Given the description of an element on the screen output the (x, y) to click on. 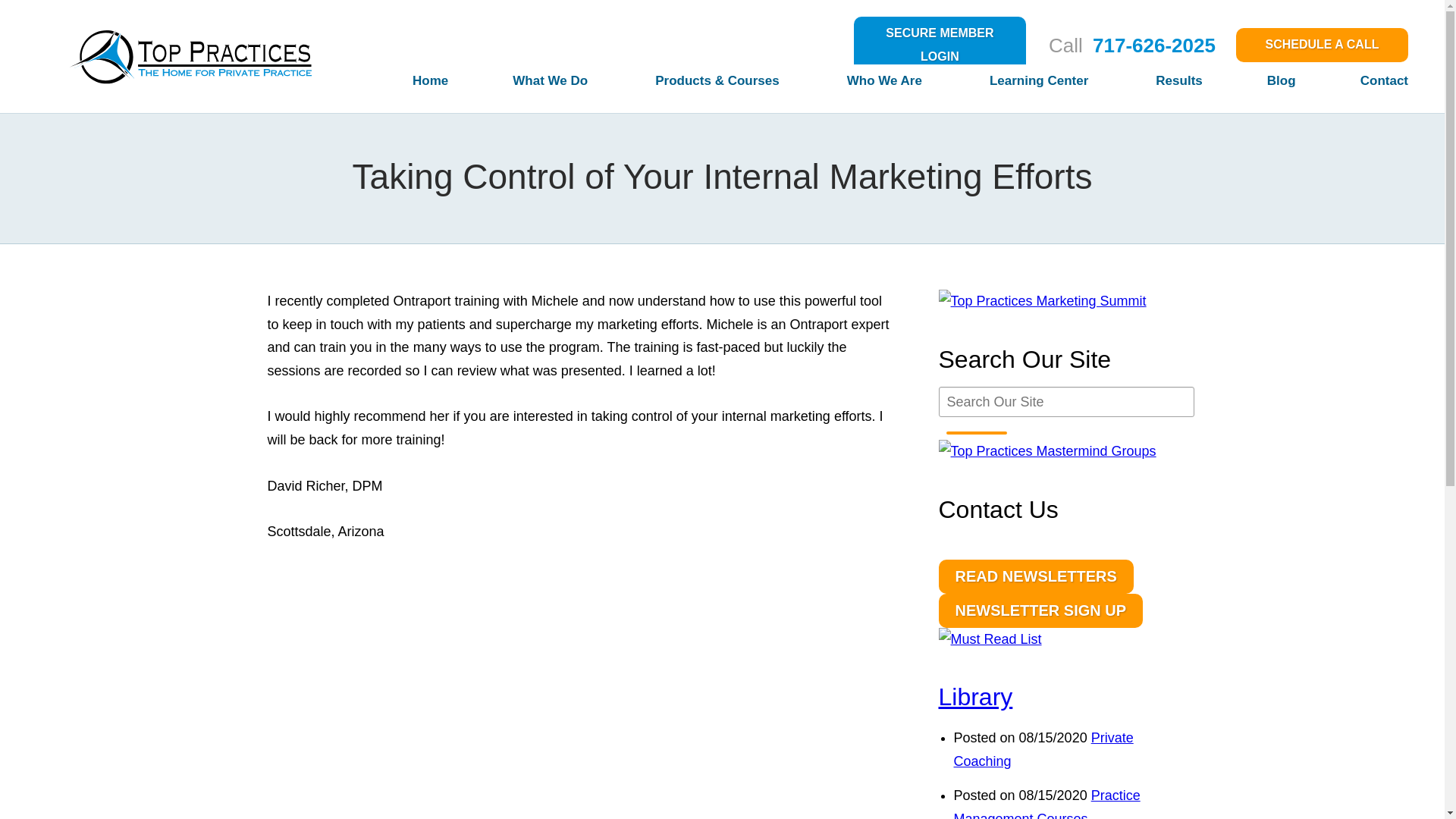
SCHEDULE A CALL (1321, 44)
Learning Center (1007, 86)
SECURE MEMBER LOGIN (939, 44)
Home (397, 86)
What We Do (519, 86)
Who We Are (853, 86)
Search (976, 432)
